Given the description of an element on the screen output the (x, y) to click on. 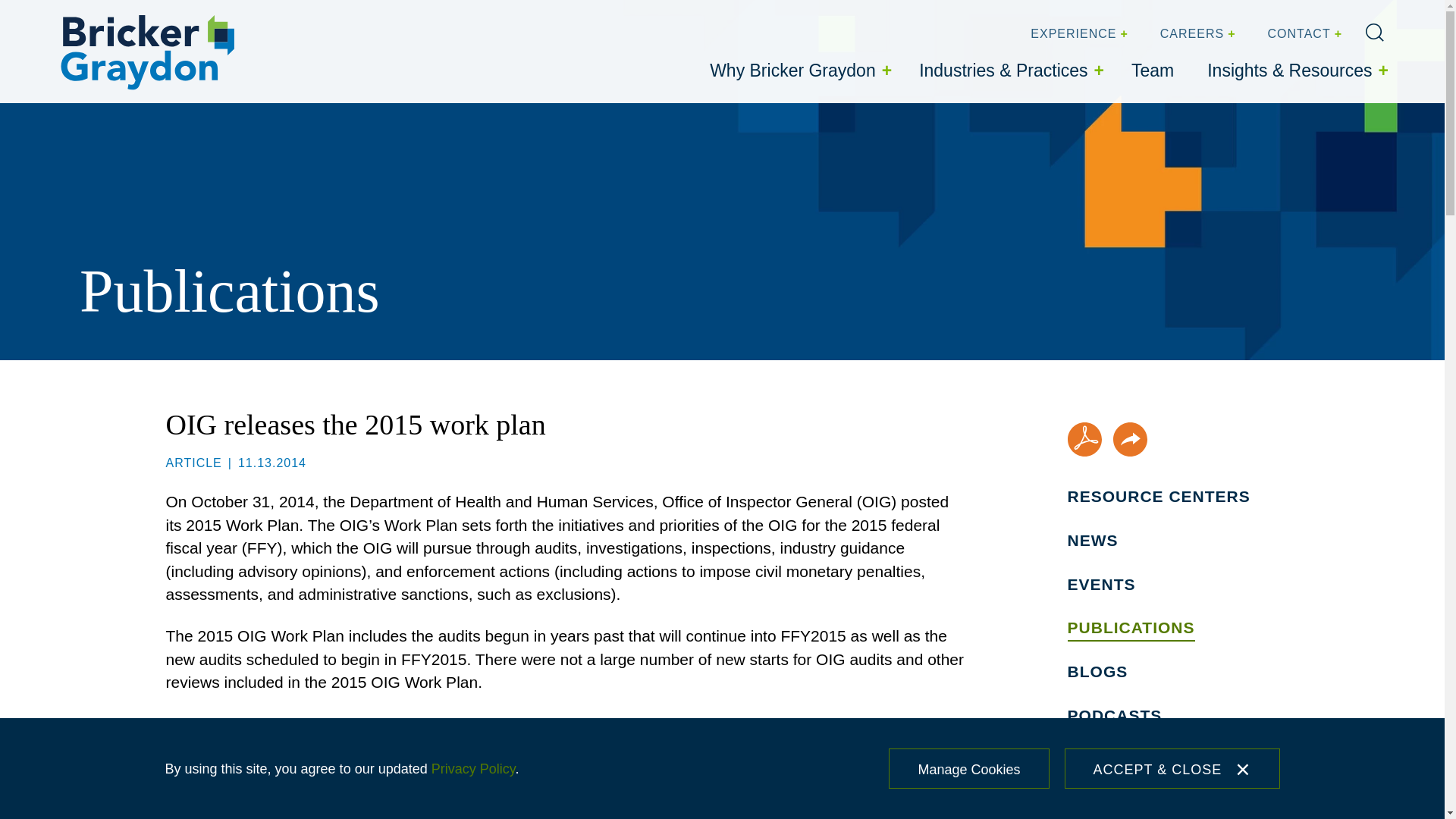
Menu (680, 16)
Team (1153, 70)
CAREERS (1195, 34)
Main Menu (680, 16)
CONTACT (1303, 34)
Search (1374, 32)
Why Bricker Graydon (797, 70)
Main Content (674, 16)
Print PDF (1084, 439)
Share (1130, 439)
